Given the description of an element on the screen output the (x, y) to click on. 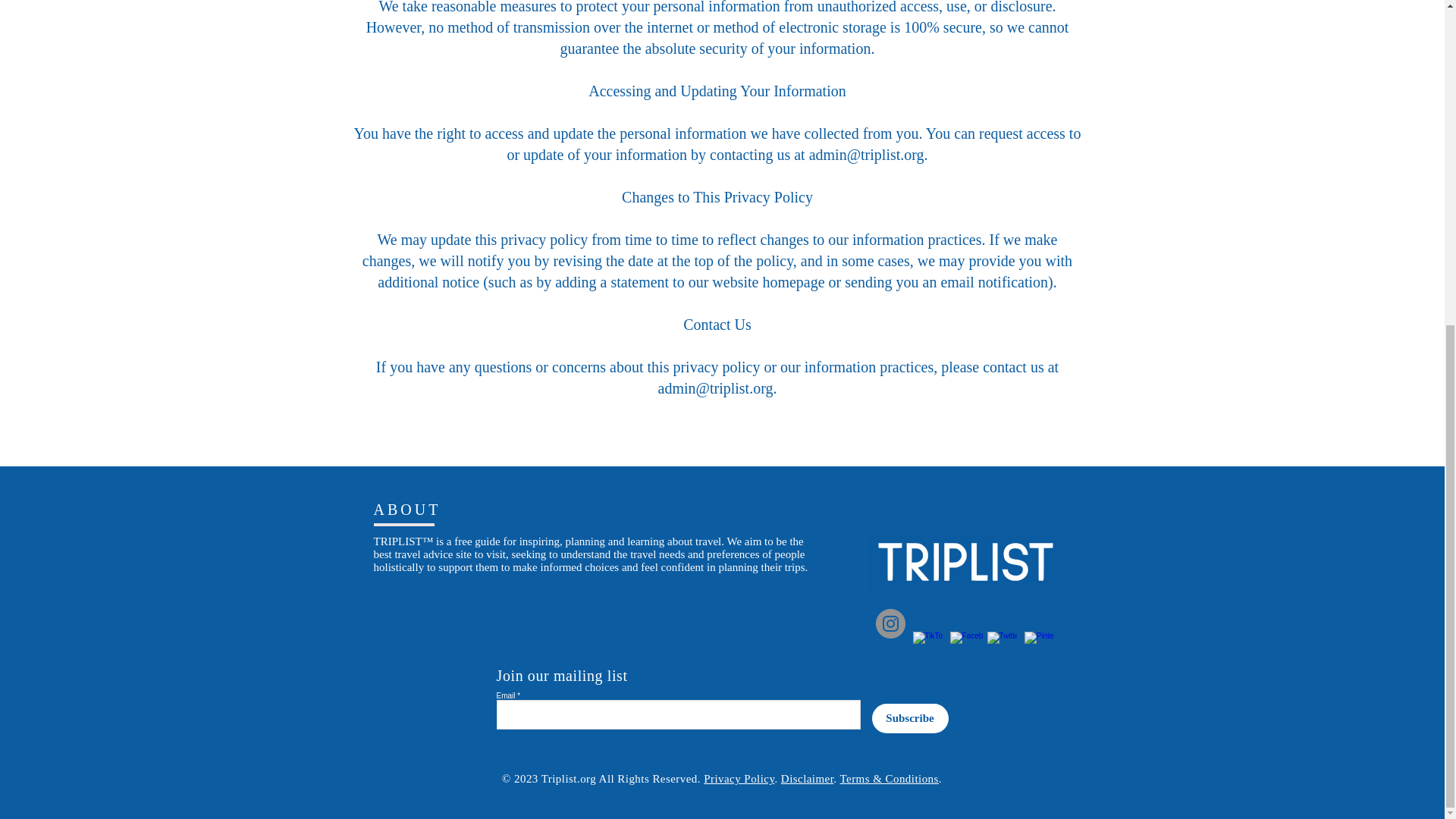
Subscribe (910, 718)
Disclaimer (806, 778)
Privacy Policy (738, 778)
